Given the description of an element on the screen output the (x, y) to click on. 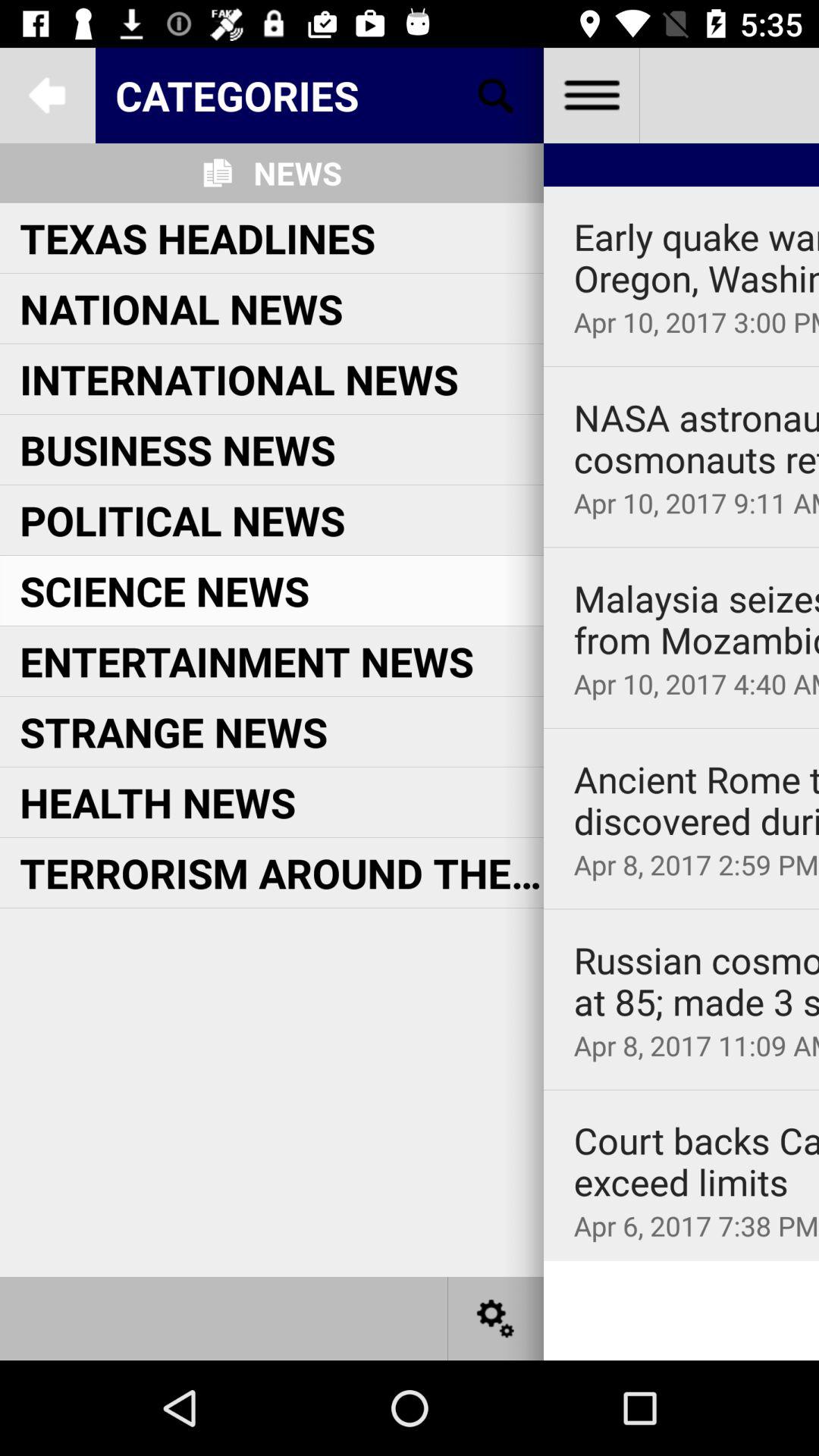
menu list (591, 95)
